Given the description of an element on the screen output the (x, y) to click on. 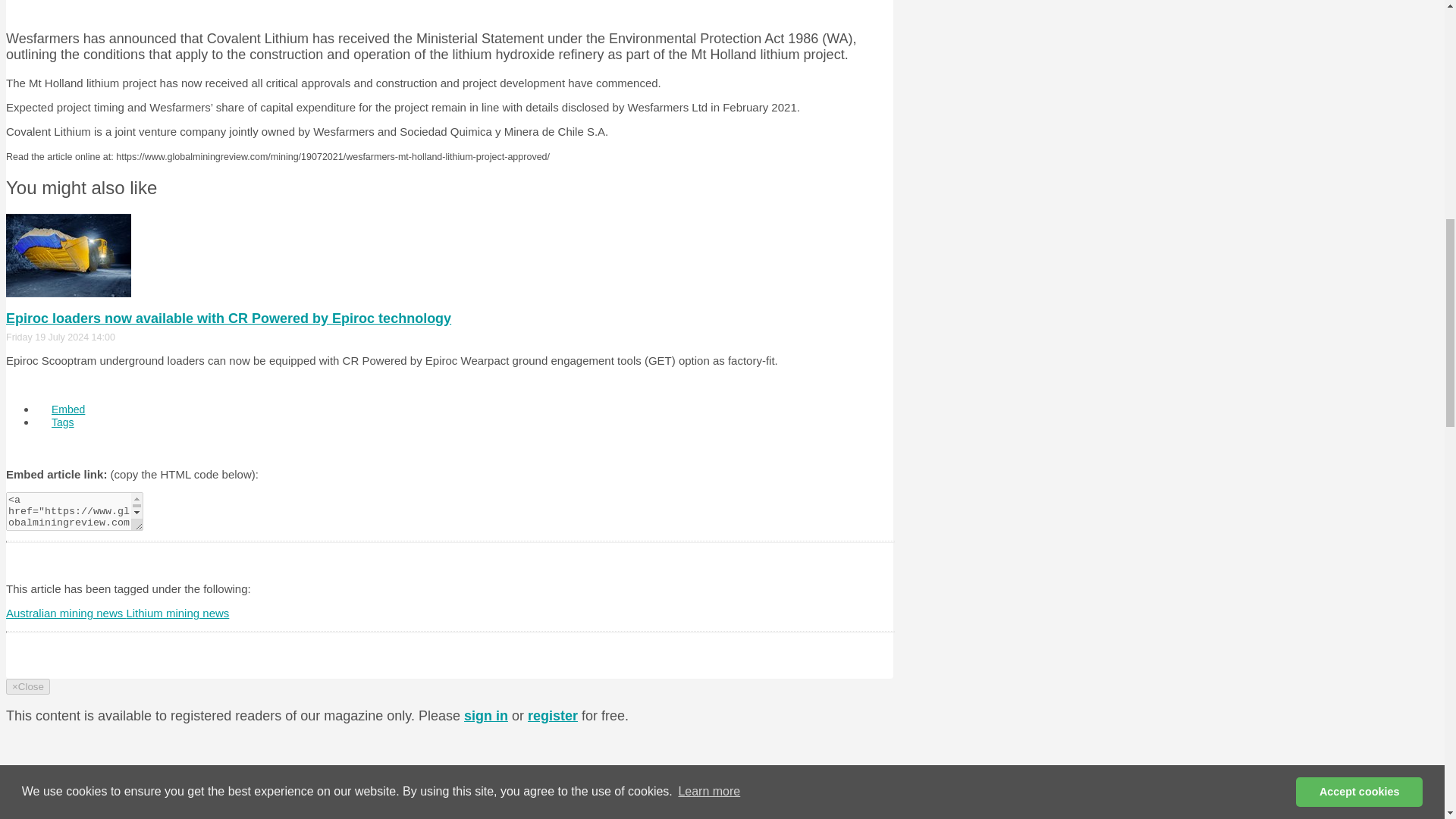
Lithium mining news (176, 612)
register (552, 715)
3rd party ad content (774, 746)
3rd party ad content (449, 7)
Embed (68, 409)
Tags (62, 421)
sign in (486, 715)
Australian mining news (65, 612)
